Given the description of an element on the screen output the (x, y) to click on. 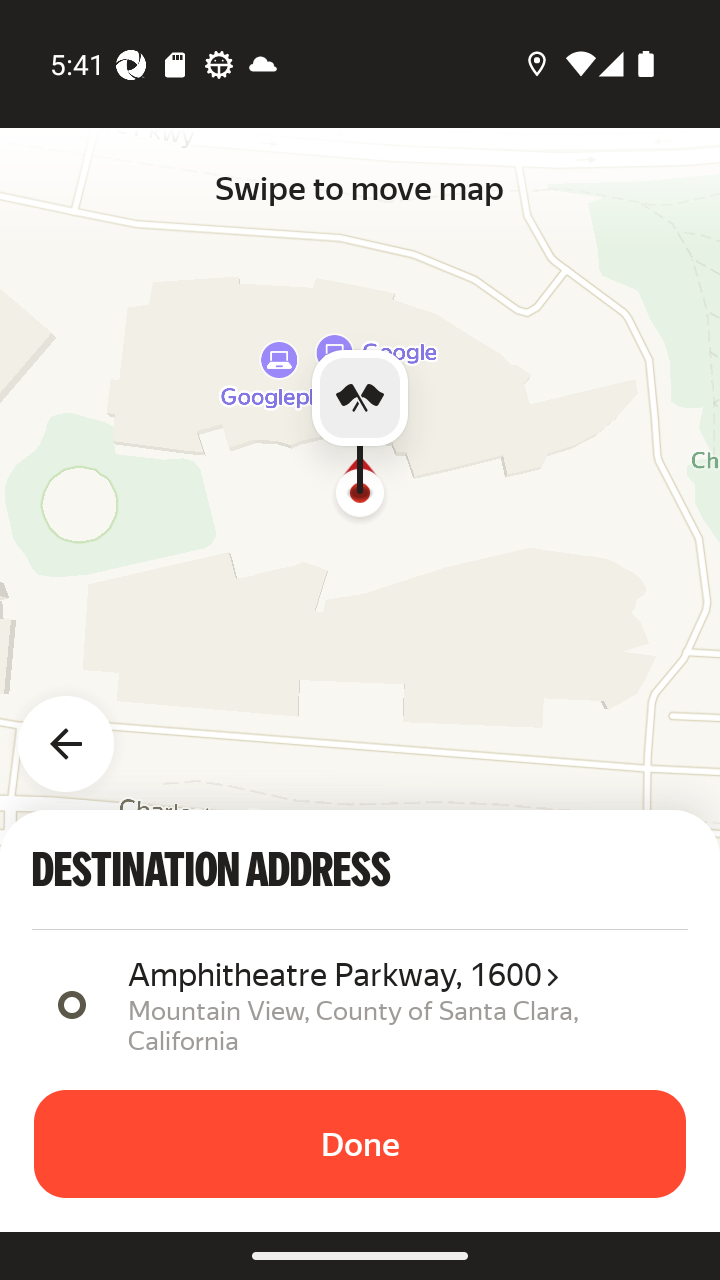
Back (78, 732)
Done (359, 1144)
